Given the description of an element on the screen output the (x, y) to click on. 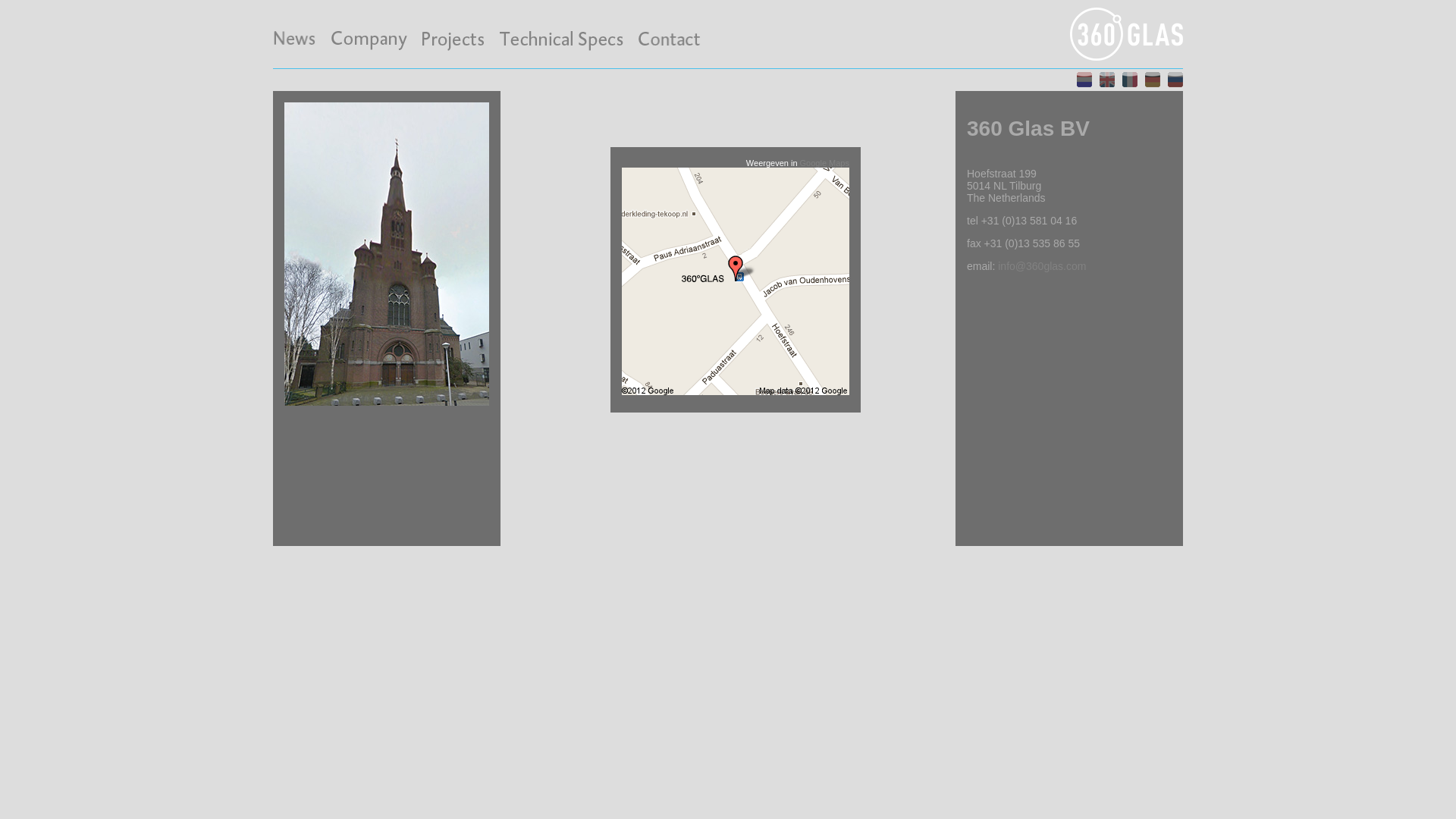
Google Maps Element type: text (824, 162)
info@360glas.com Element type: text (1041, 265)
